Given the description of an element on the screen output the (x, y) to click on. 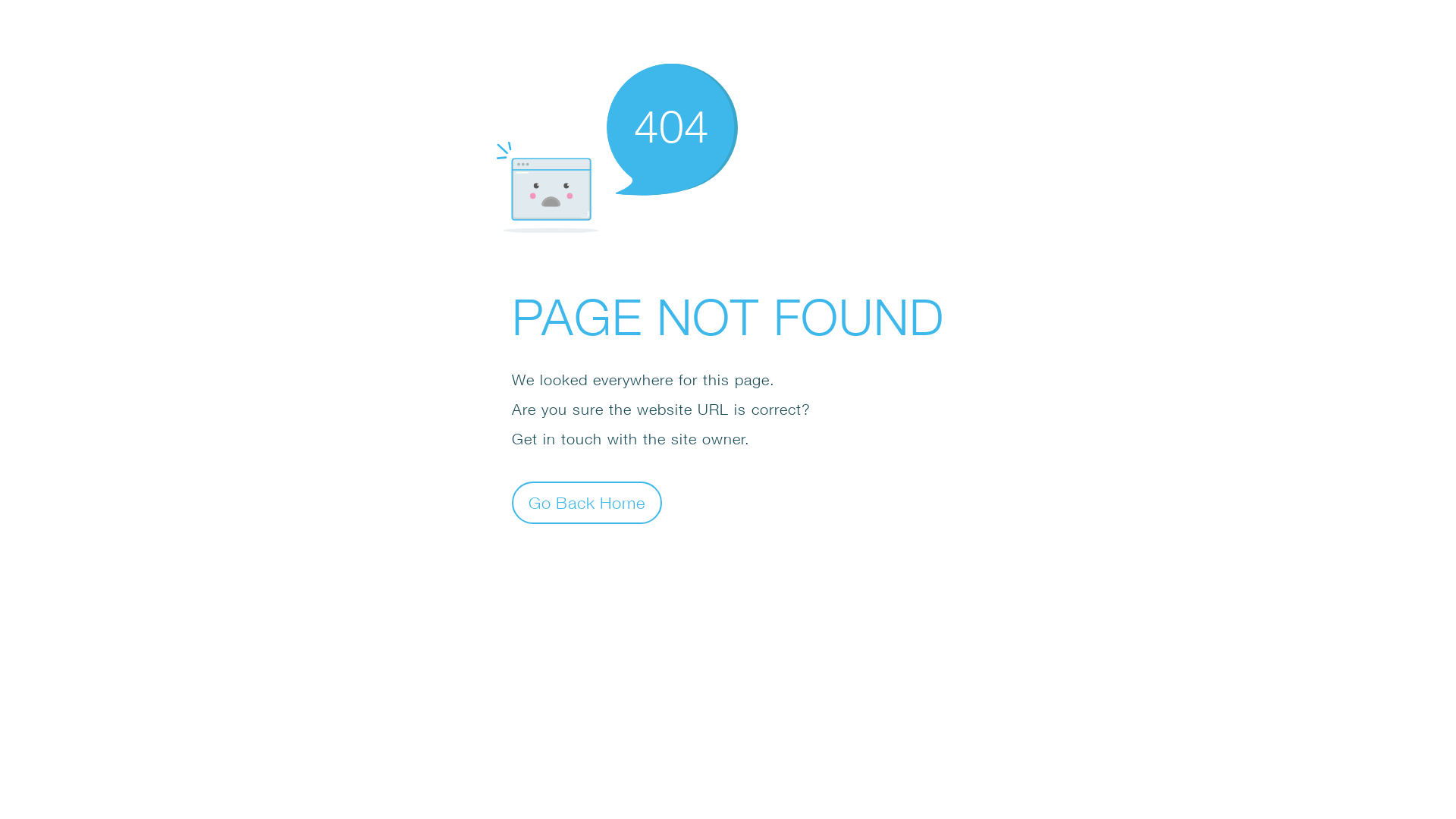
Go Back Home Element type: text (586, 502)
